Given the description of an element on the screen output the (x, y) to click on. 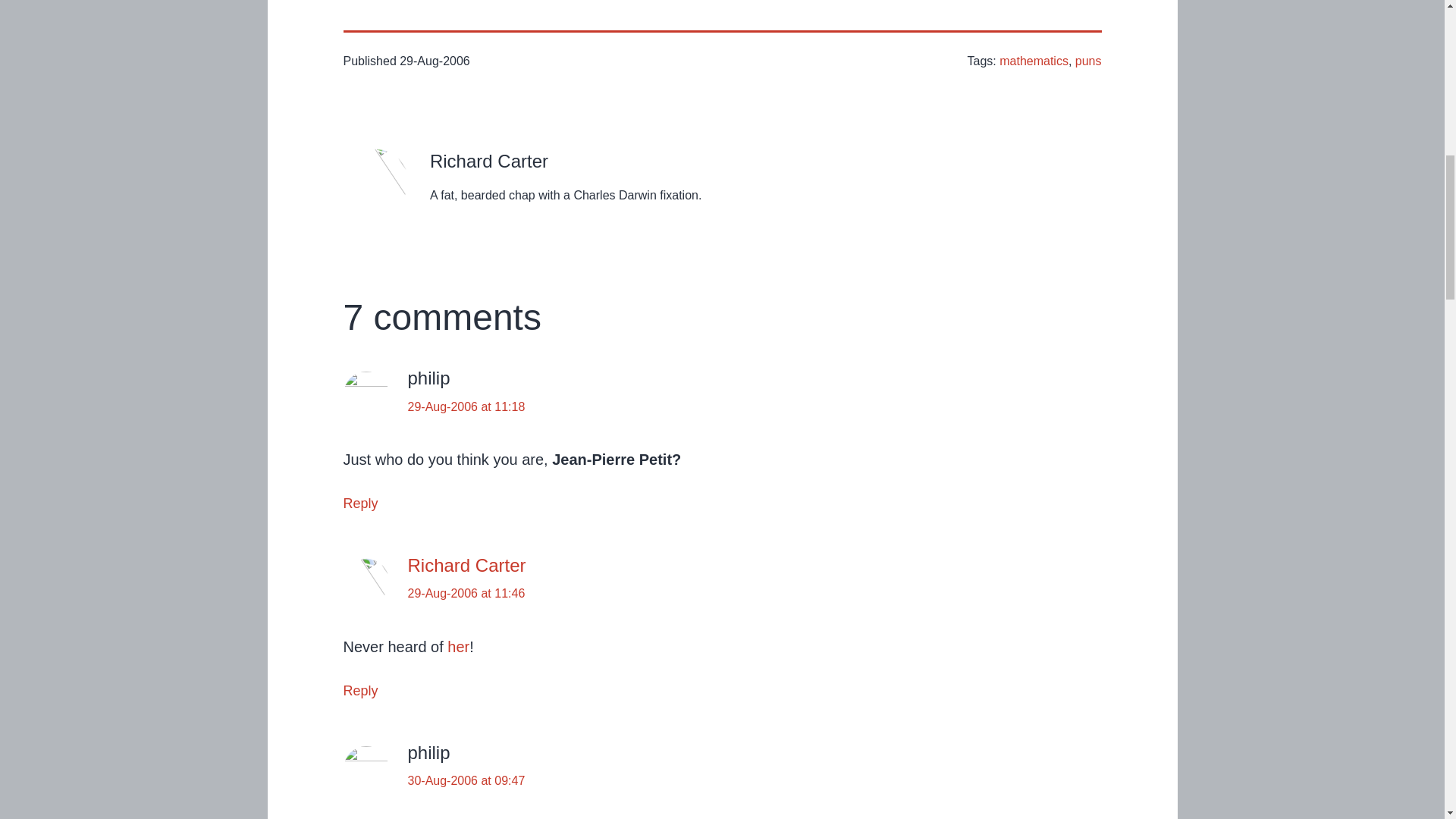
30-Aug-2006 at 09:47 (466, 780)
puns (1088, 60)
mathematics (1033, 60)
Wikipedia: 'Jean-Pierre Petit' (457, 646)
Reply (359, 690)
29-Aug-2006 at 11:46 (466, 593)
her (457, 646)
Reply (359, 503)
Richard Carter (466, 565)
29-Aug-2006 at 11:18 (466, 406)
